Given the description of an element on the screen output the (x, y) to click on. 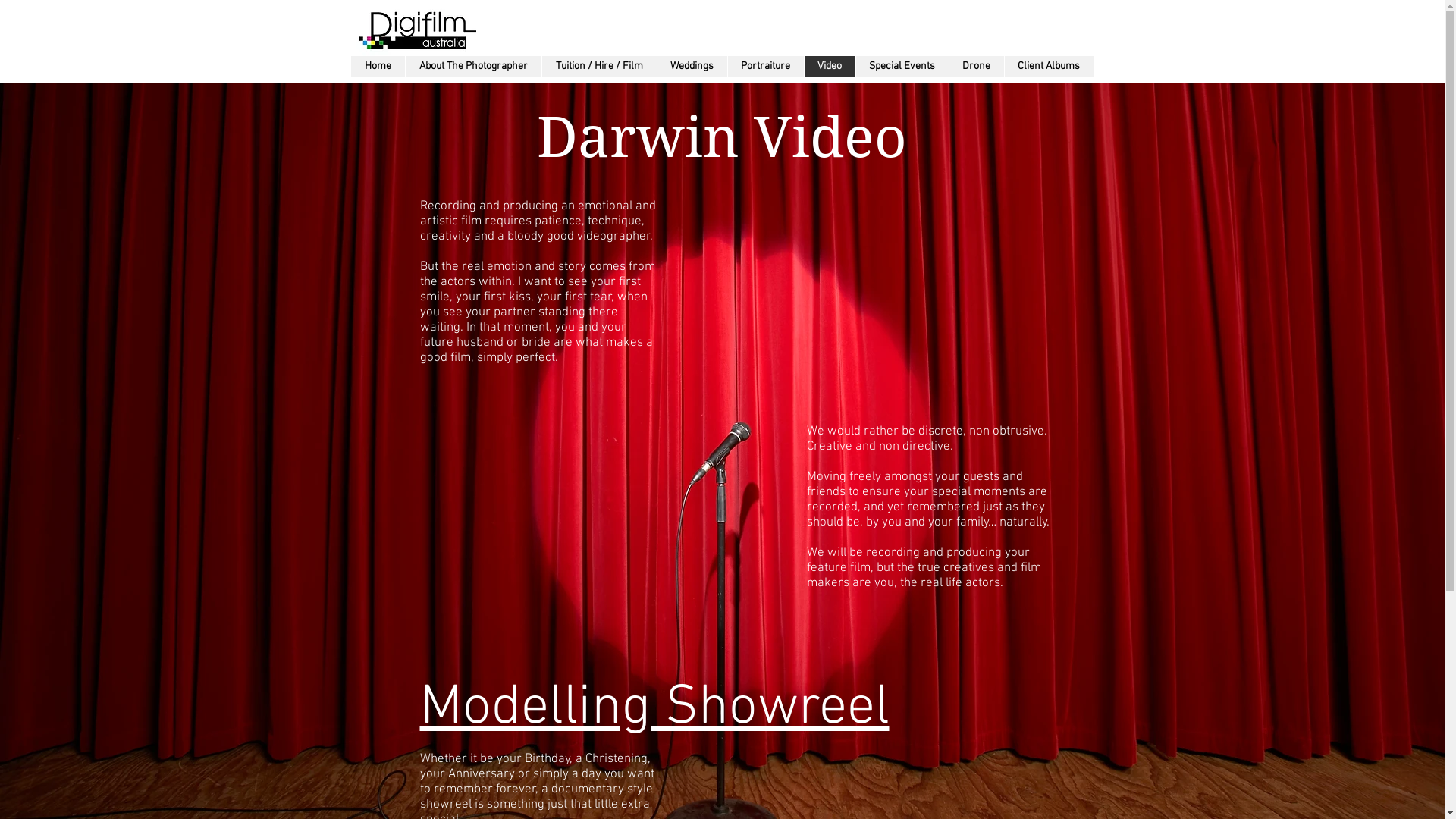
Portraiture Element type: text (764, 66)
Special Events Element type: text (901, 66)
Drone Element type: text (975, 66)
Home Element type: text (377, 66)
Weddings Element type: text (691, 66)
Video Element type: text (829, 66)
Client Albums Element type: text (1048, 66)
Tuition / Hire / Film Element type: text (598, 66)
About The Photographer Element type: text (472, 66)
